Given the description of an element on the screen output the (x, y) to click on. 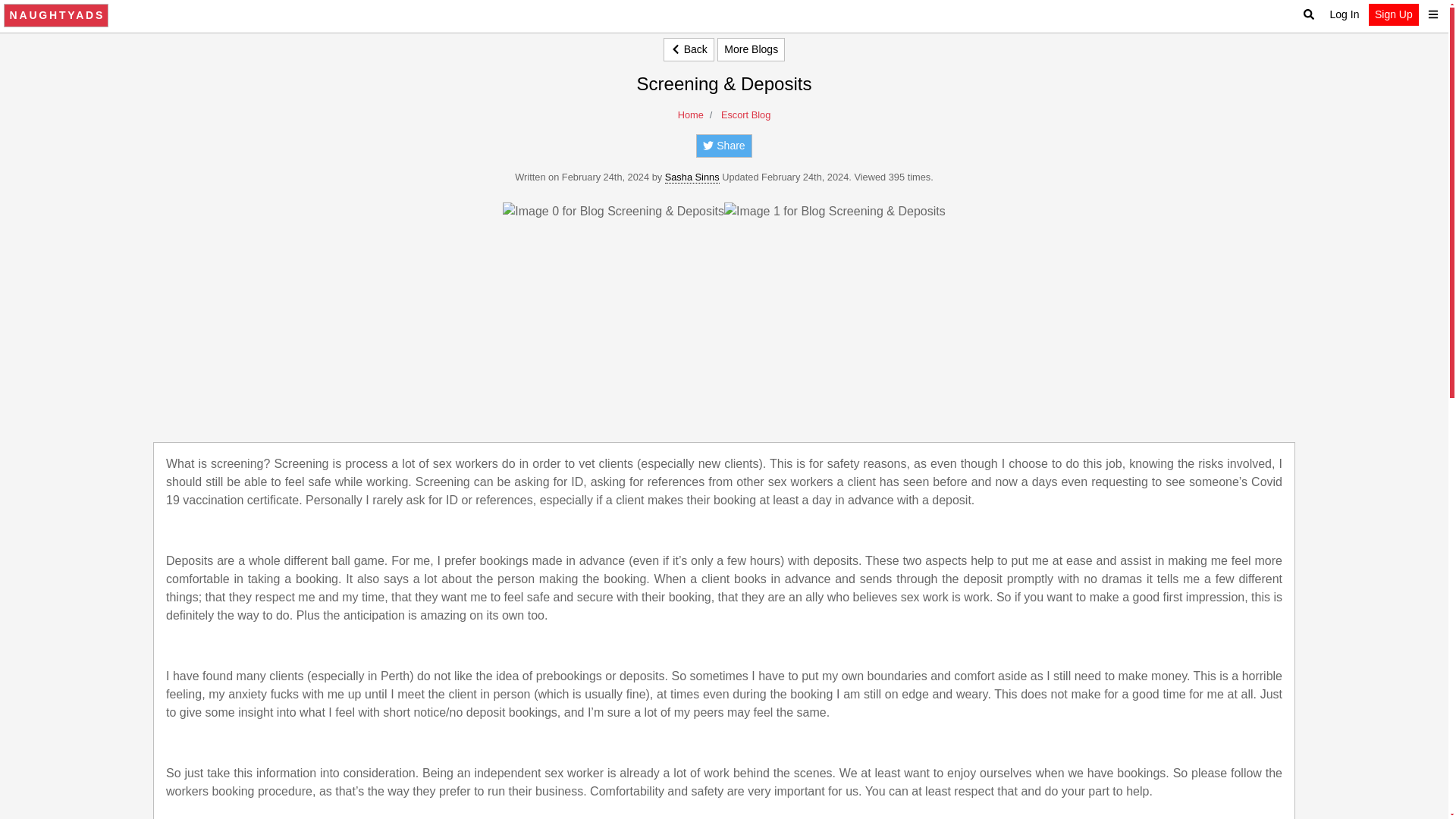
More Blogs (750, 49)
Naughty Ads - Escorts Directory (55, 15)
Back (688, 49)
NAUGHTYADS (55, 15)
Sign Up (1393, 14)
Home (690, 114)
Sasha Sinns (692, 177)
Escort Blog (745, 114)
Share (723, 146)
Log In (1344, 14)
